Given the description of an element on the screen output the (x, y) to click on. 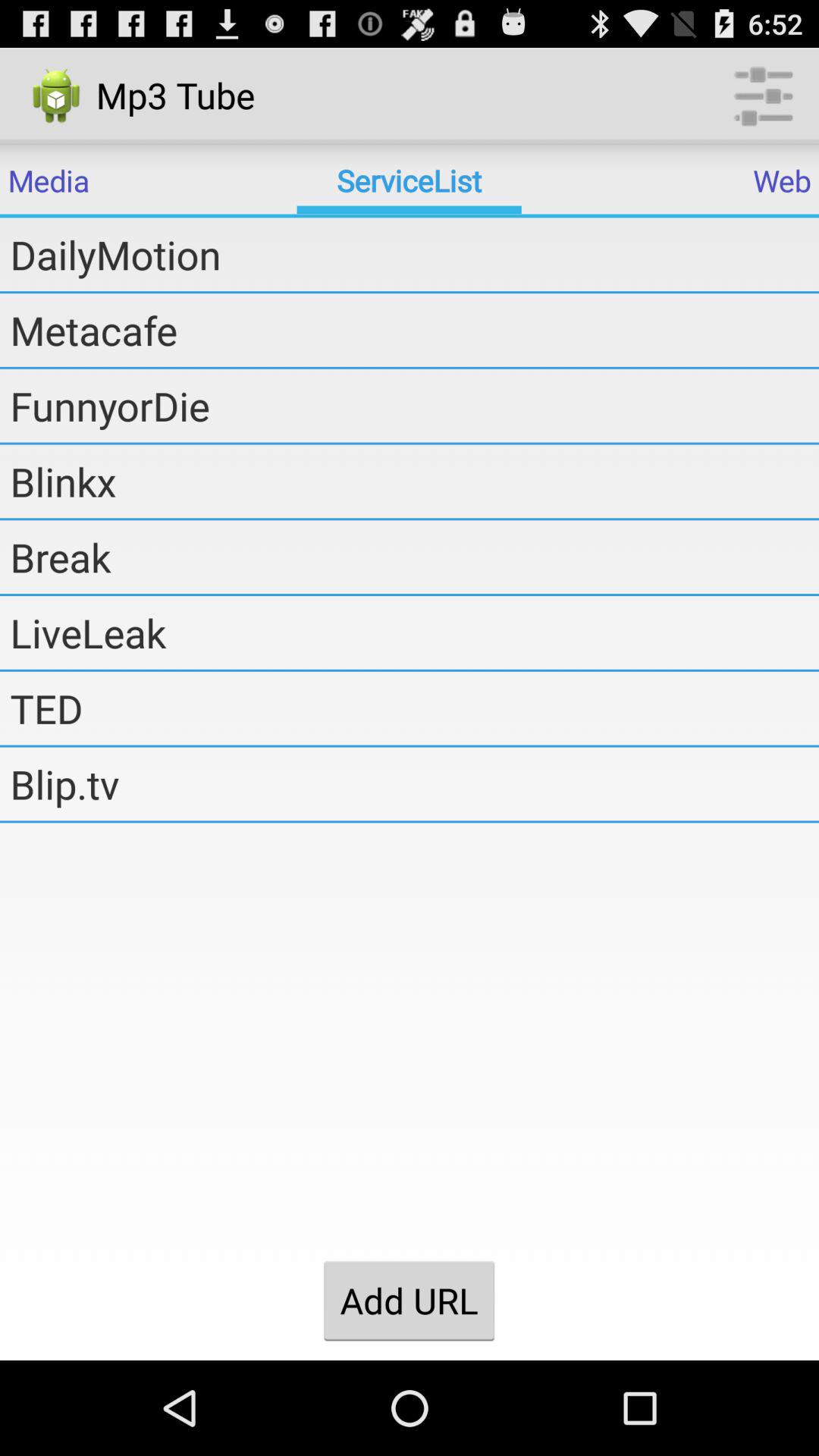
swipe to the blinkx item (414, 481)
